Given the description of an element on the screen output the (x, y) to click on. 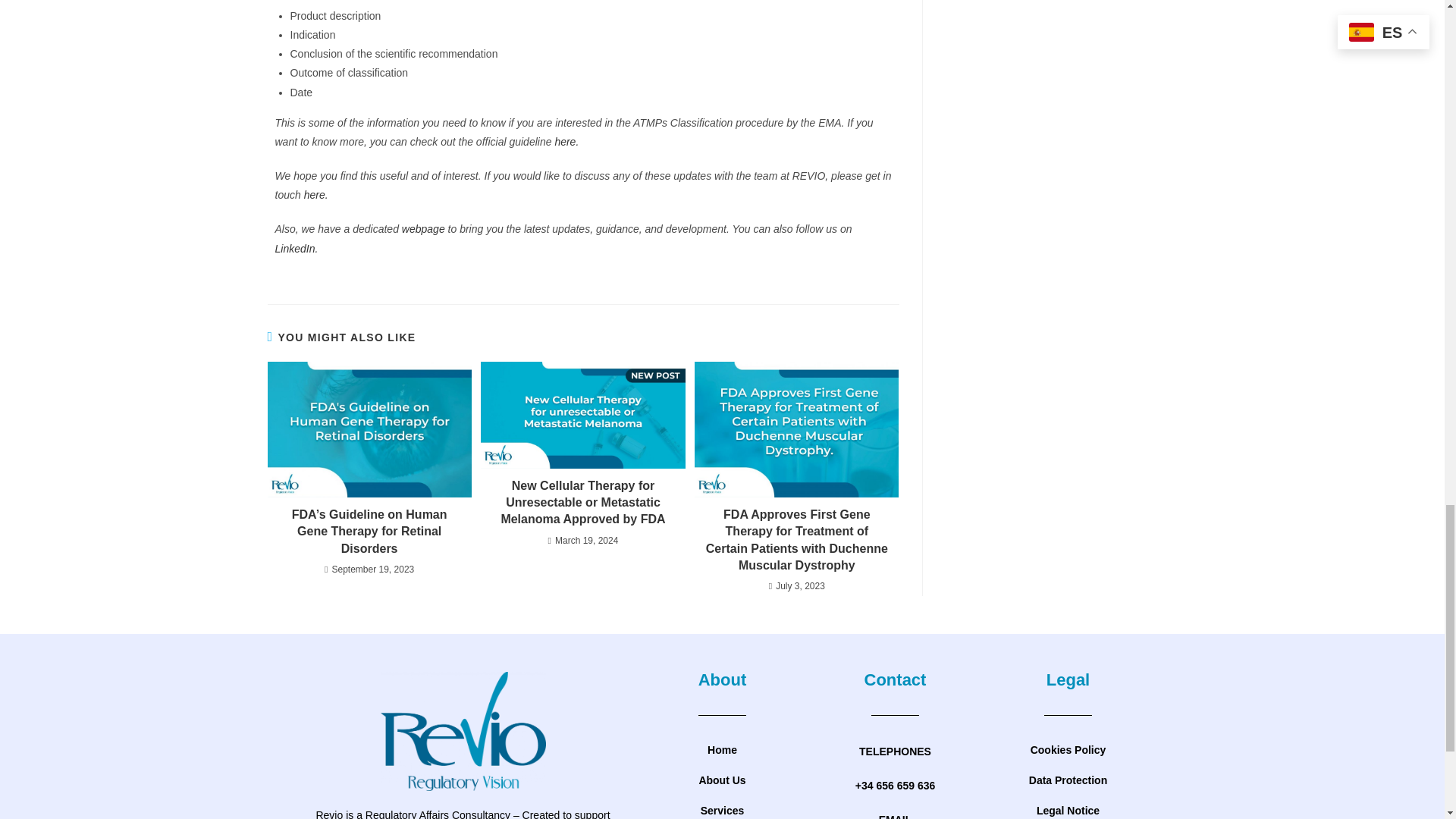
webpage (424, 228)
here.  (567, 141)
here. (316, 194)
LinkedIn. (296, 248)
